Given the description of an element on the screen output the (x, y) to click on. 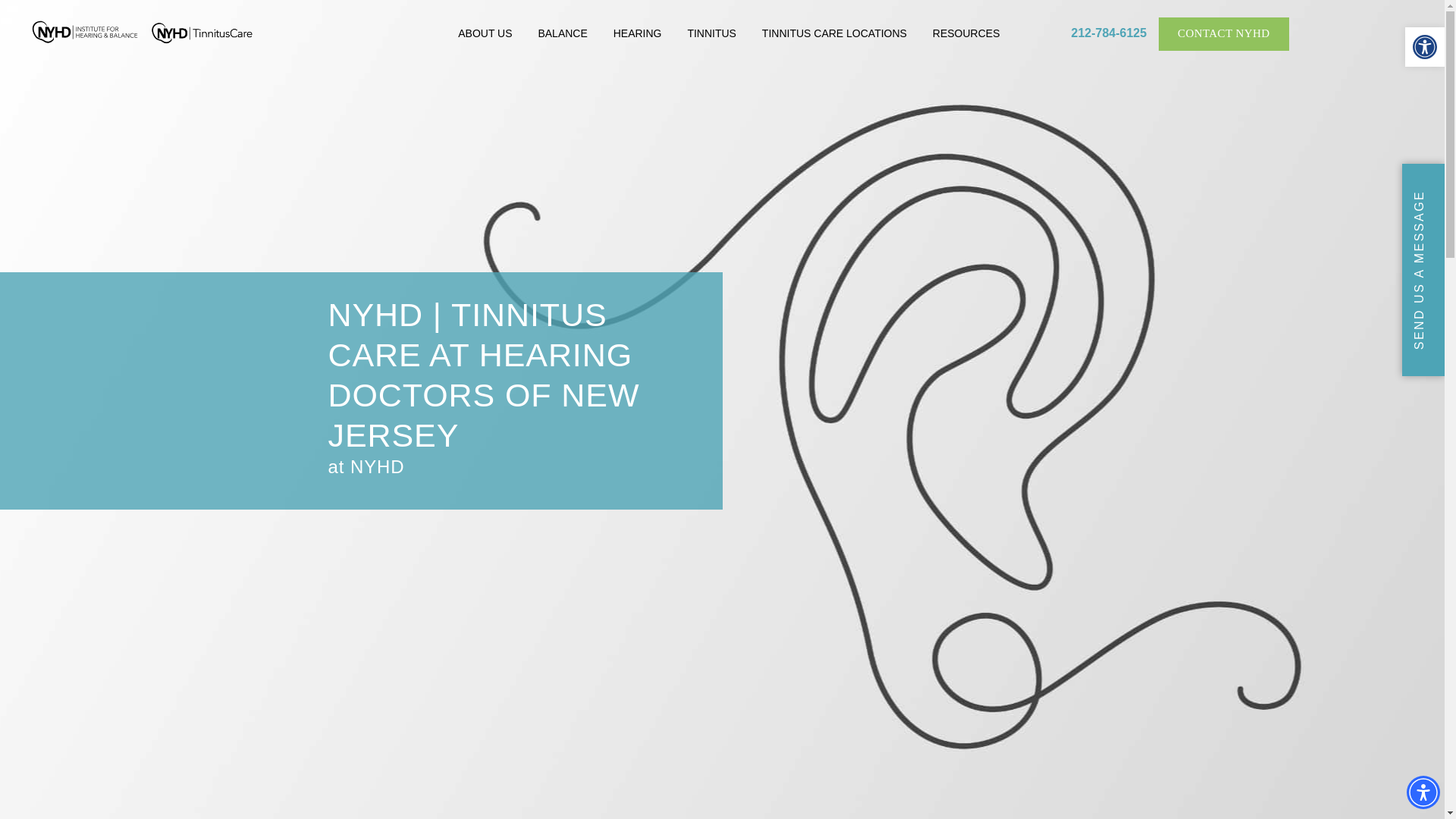
HEARING (637, 34)
TINNITUS (711, 34)
Accessibility Menu (1422, 792)
BALANCE (561, 34)
Accessibility Tools (1424, 46)
ABOUT US (484, 34)
